Given the description of an element on the screen output the (x, y) to click on. 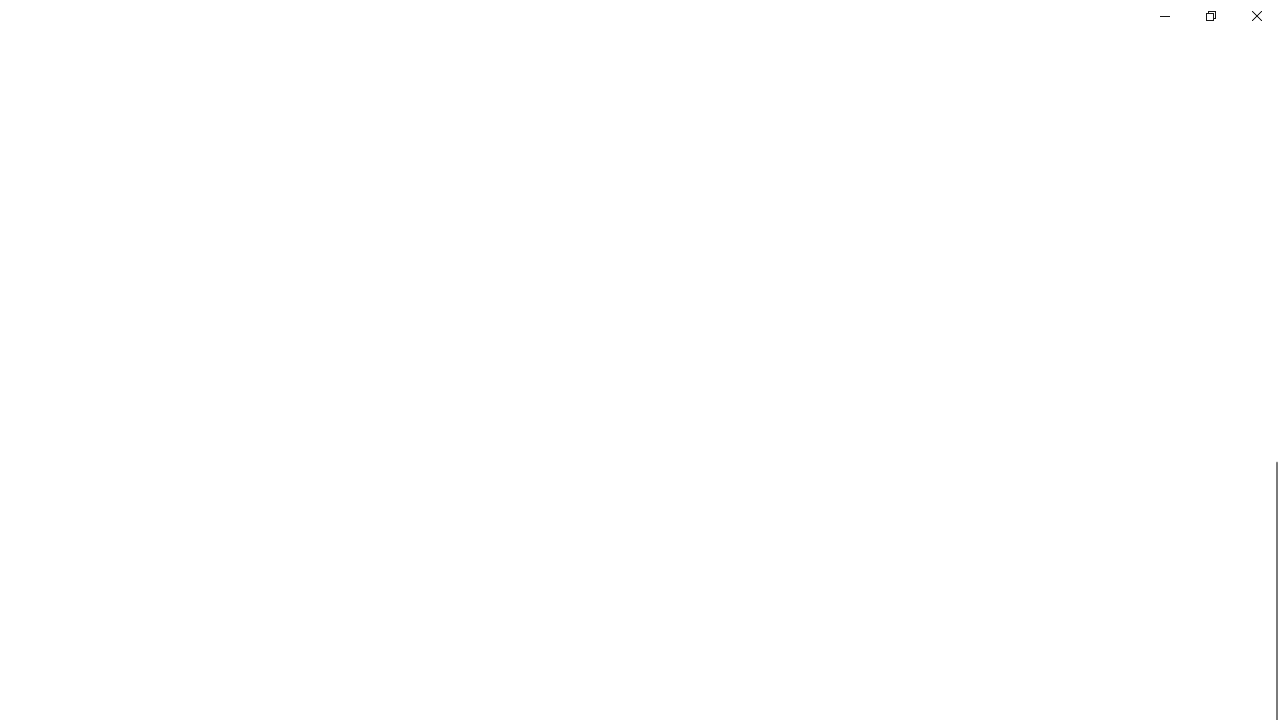
Restore Settings (1210, 15)
Minimize Settings (1164, 15)
Vertical Small Decrease (1272, 103)
Close Settings (1256, 15)
Vertical Large Decrease (1272, 287)
